Given the description of an element on the screen output the (x, y) to click on. 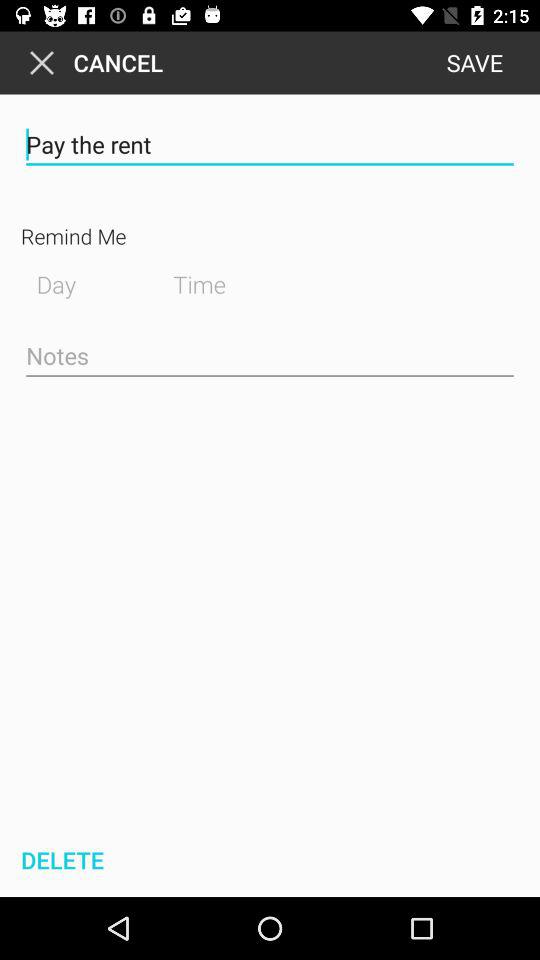
launch the item above the remind me (270, 144)
